Given the description of an element on the screen output the (x, y) to click on. 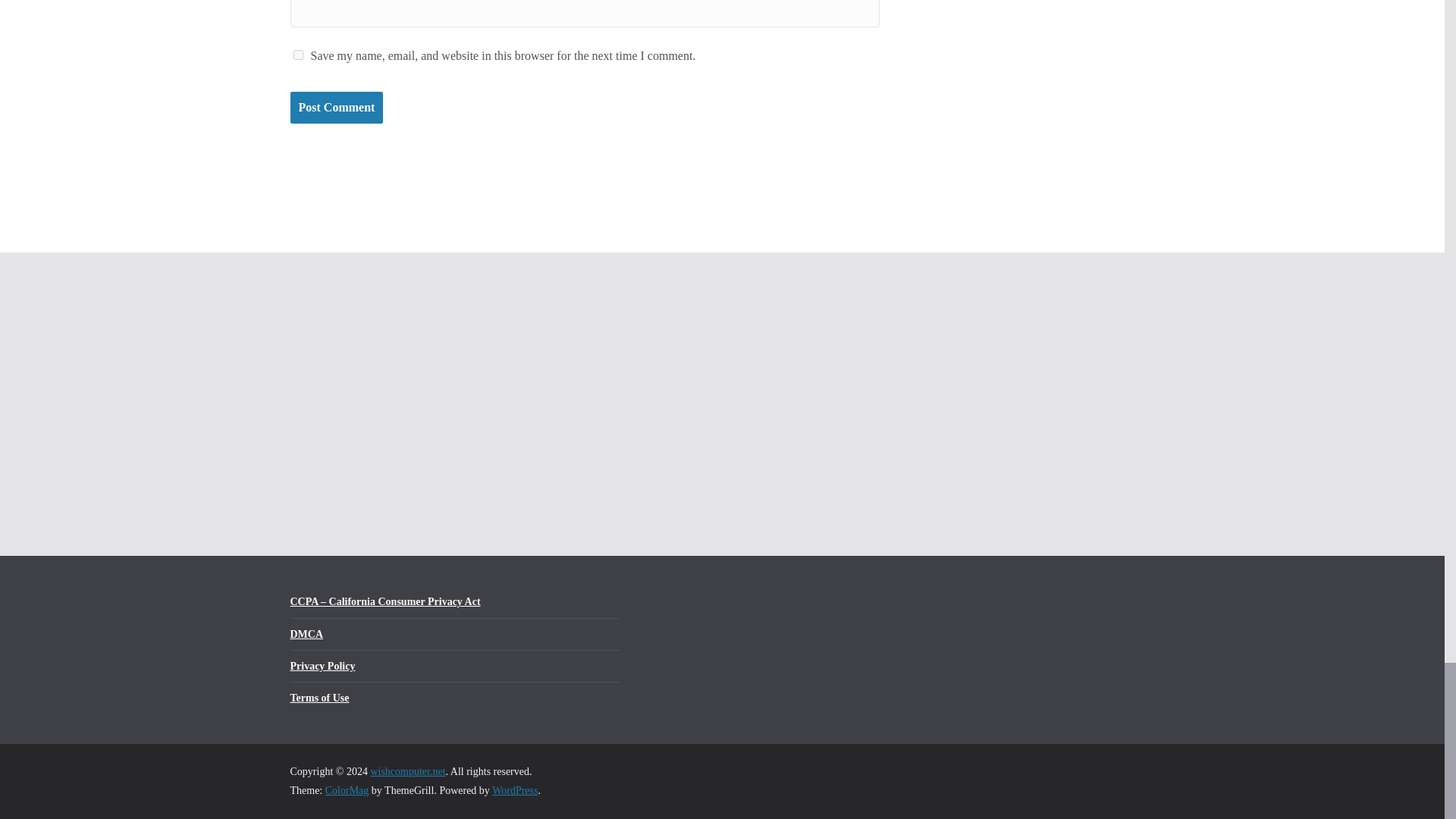
Post Comment (335, 107)
yes (297, 54)
Post Comment (335, 107)
